Given the description of an element on the screen output the (x, y) to click on. 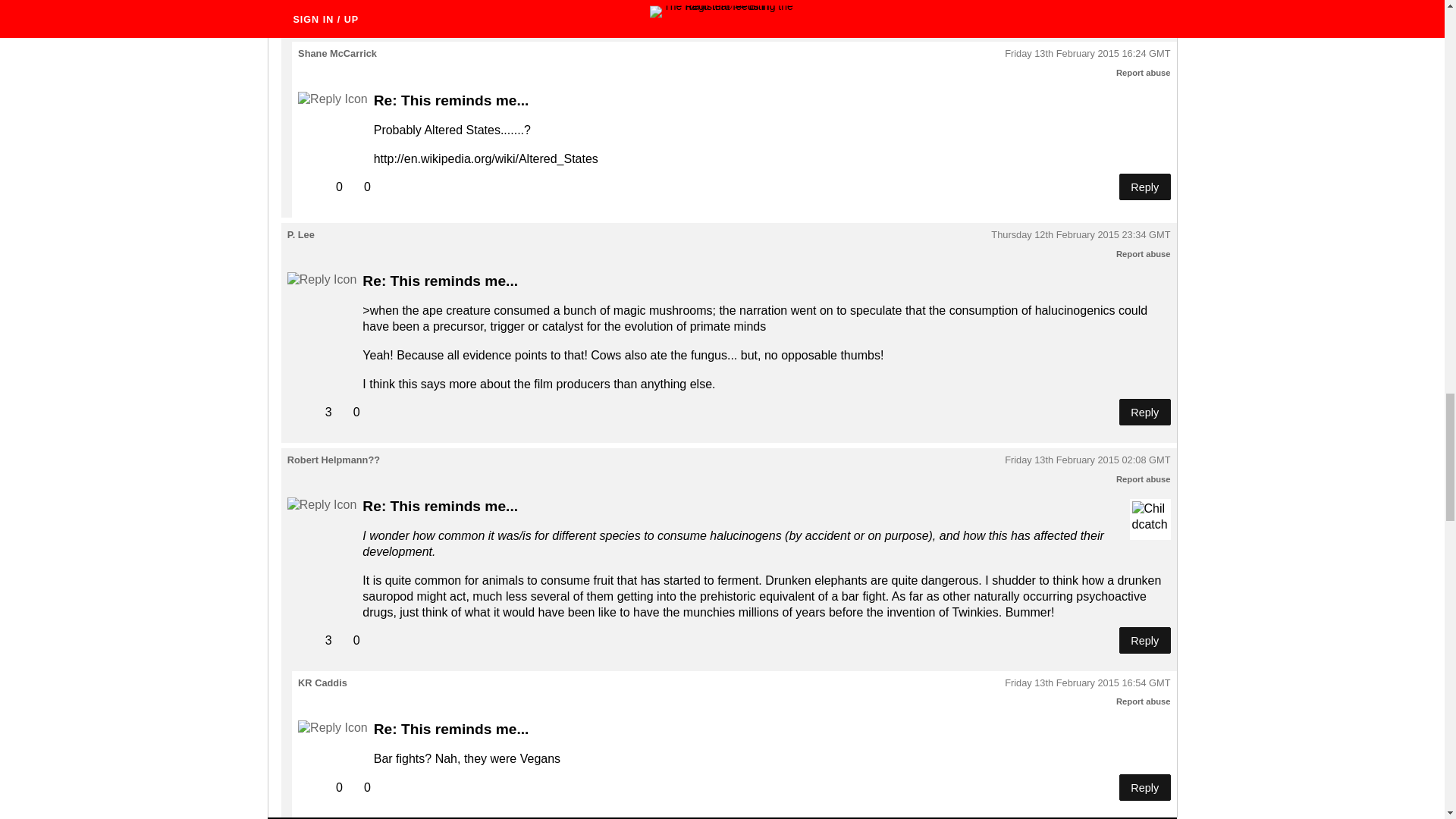
Report abuse (1143, 479)
Report abuse (1143, 700)
Report abuse (1143, 71)
Report abuse (1143, 252)
